Given the description of an element on the screen output the (x, y) to click on. 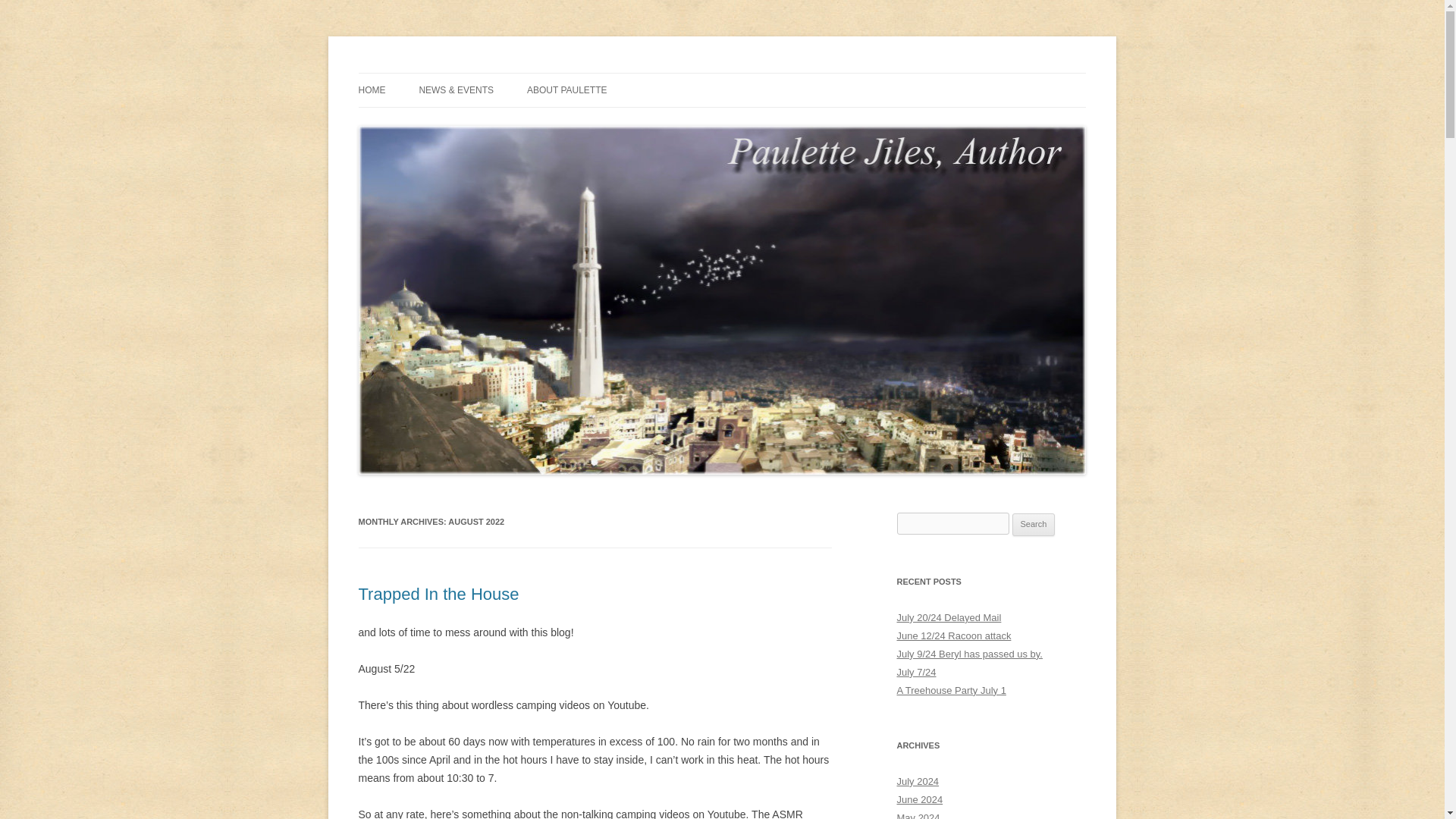
Trapped In the House (438, 593)
Paulette Jiles, Author (458, 72)
NEWS (494, 122)
Search (1033, 524)
ABOUT PAULETTE (567, 90)
Search (1033, 524)
A Treehouse Party July 1 (951, 690)
June 2024 (919, 799)
July 2024 (917, 781)
May 2024 (917, 815)
